Given the description of an element on the screen output the (x, y) to click on. 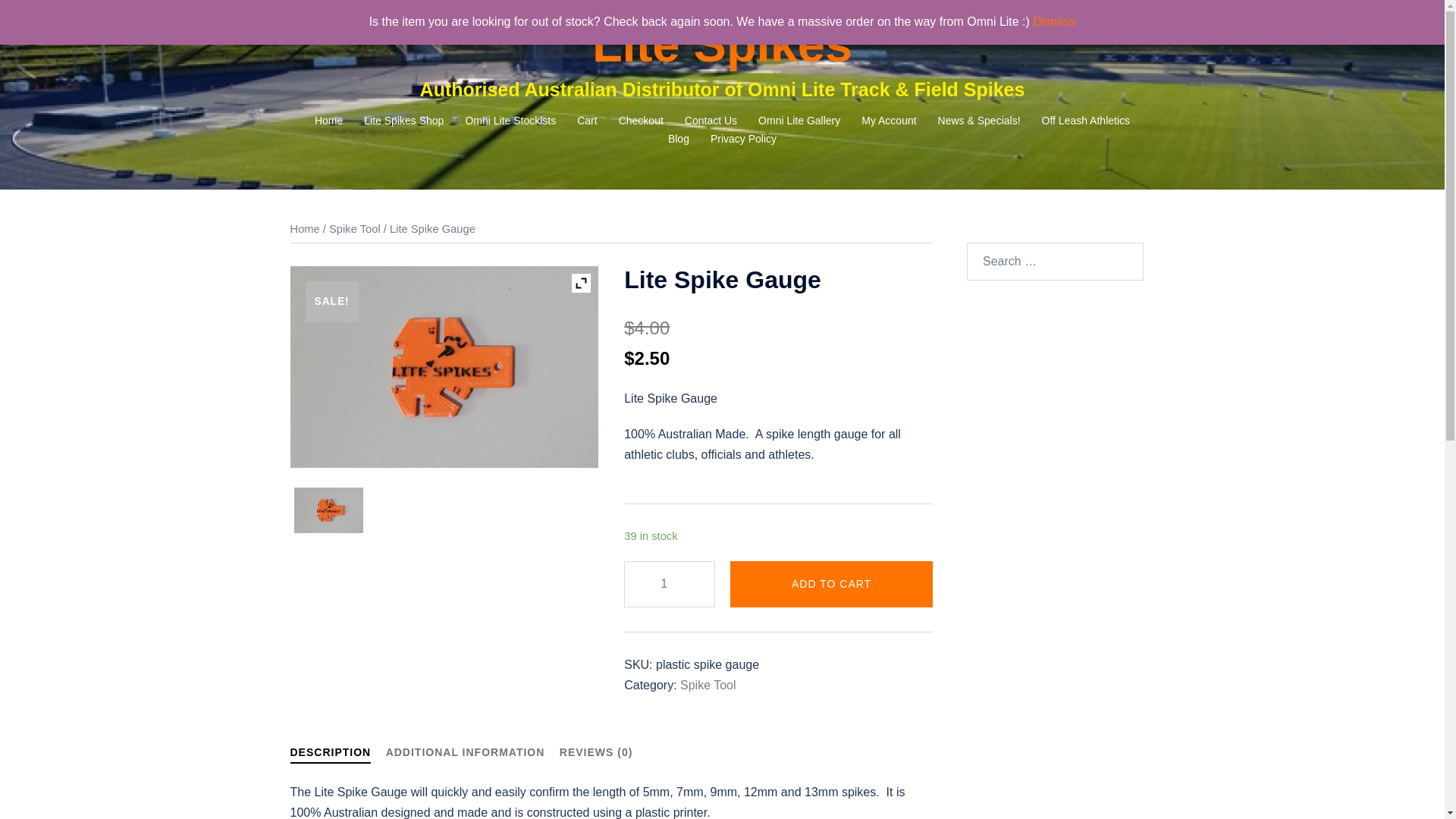
Lite Spikes Element type: text (722, 44)
Home Element type: text (304, 228)
ADDITIONAL INFORMATION Element type: text (465, 752)
Cart Element type: text (586, 121)
Blog Element type: text (678, 139)
ADD TO CART Element type: text (831, 584)
Spike Tool Element type: text (708, 684)
Spike Tool Element type: text (354, 228)
Lite Spikes Shop Element type: text (403, 121)
Plastic Spike Gauge 2 Element type: hover (329, 510)
News & Specials! Element type: text (979, 121)
Contact Us Element type: text (710, 121)
Omni Lite Gallery Element type: text (799, 121)
Home Element type: text (328, 121)
Off Leash Athletics Element type: text (1085, 121)
Checkout Element type: text (640, 121)
Dismiss Element type: text (1053, 21)
Plastic Spike Gauge 2 Element type: hover (443, 366)
REVIEWS (0) Element type: text (596, 752)
Privacy Policy Element type: text (743, 139)
Omni Lite Stockists Element type: text (509, 121)
My Account Element type: text (888, 121)
DESCRIPTION Element type: text (329, 754)
Search Element type: text (49, 18)
